Given the description of an element on the screen output the (x, y) to click on. 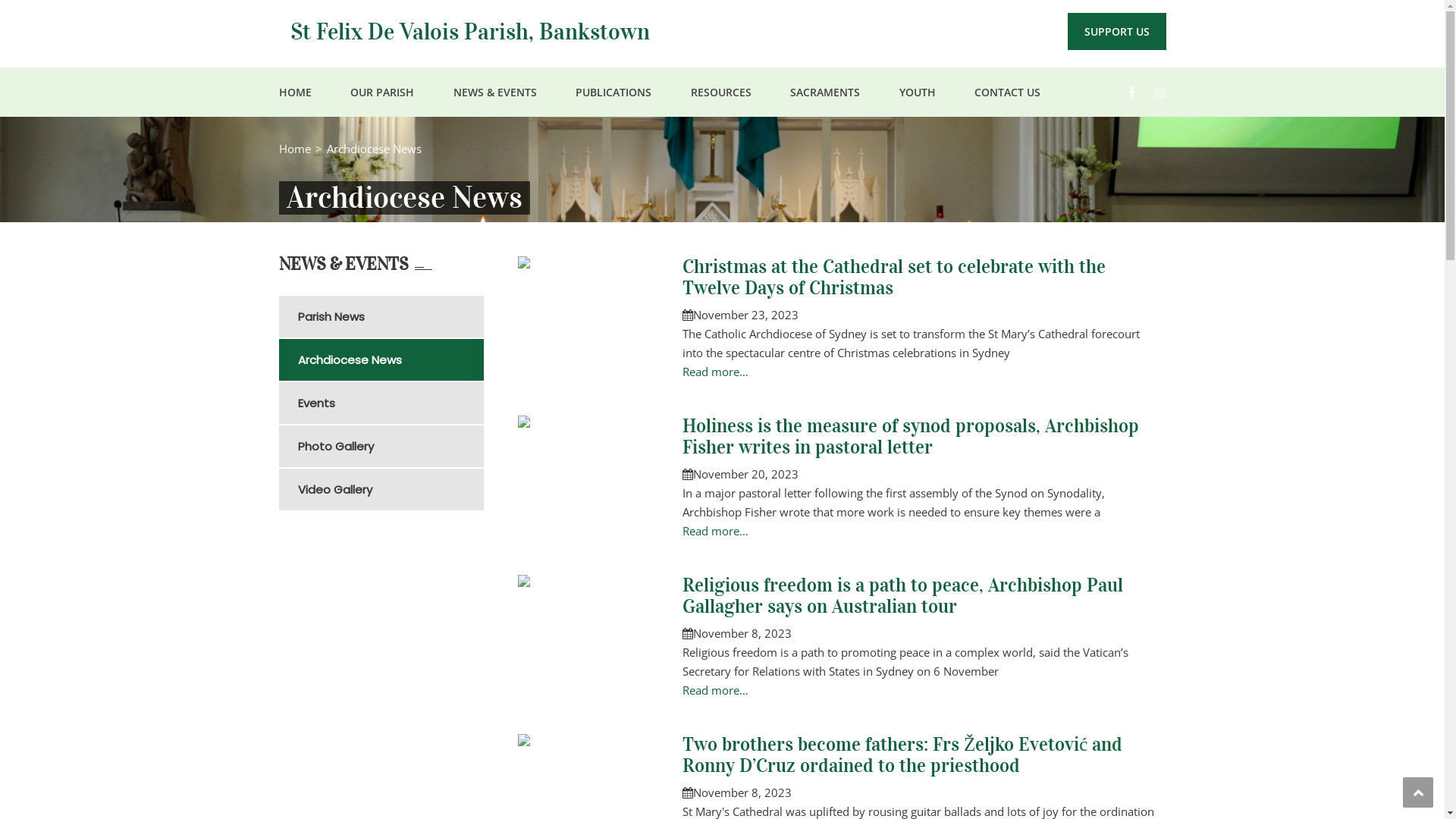
Photo Gallery Element type: text (390, 446)
St Felix De Valois Parish, Bankstown Element type: text (469, 31)
NEWS & EVENTS Element type: text (494, 91)
HOME Element type: text (295, 91)
CONTACT US Element type: text (1007, 91)
SUPPORT US Element type: text (1116, 31)
Archdiocese News Element type: text (390, 359)
PUBLICATIONS Element type: text (613, 91)
YOUTH Element type: text (917, 91)
Search Element type: text (1144, 160)
RESOURCES Element type: text (720, 91)
Events Element type: text (390, 402)
OUR PARISH Element type: text (382, 91)
Home Element type: text (294, 148)
https://www.facebook.com/stfelixdevaloisparishbankstown Element type: hover (1131, 92)
Parish News Element type: text (390, 316)
Video Gallery Element type: text (390, 489)
https://www.instagram.com/stfelixyouth/ Element type: hover (1159, 92)
SACRAMENTS Element type: text (824, 91)
